Given the description of an element on the screen output the (x, y) to click on. 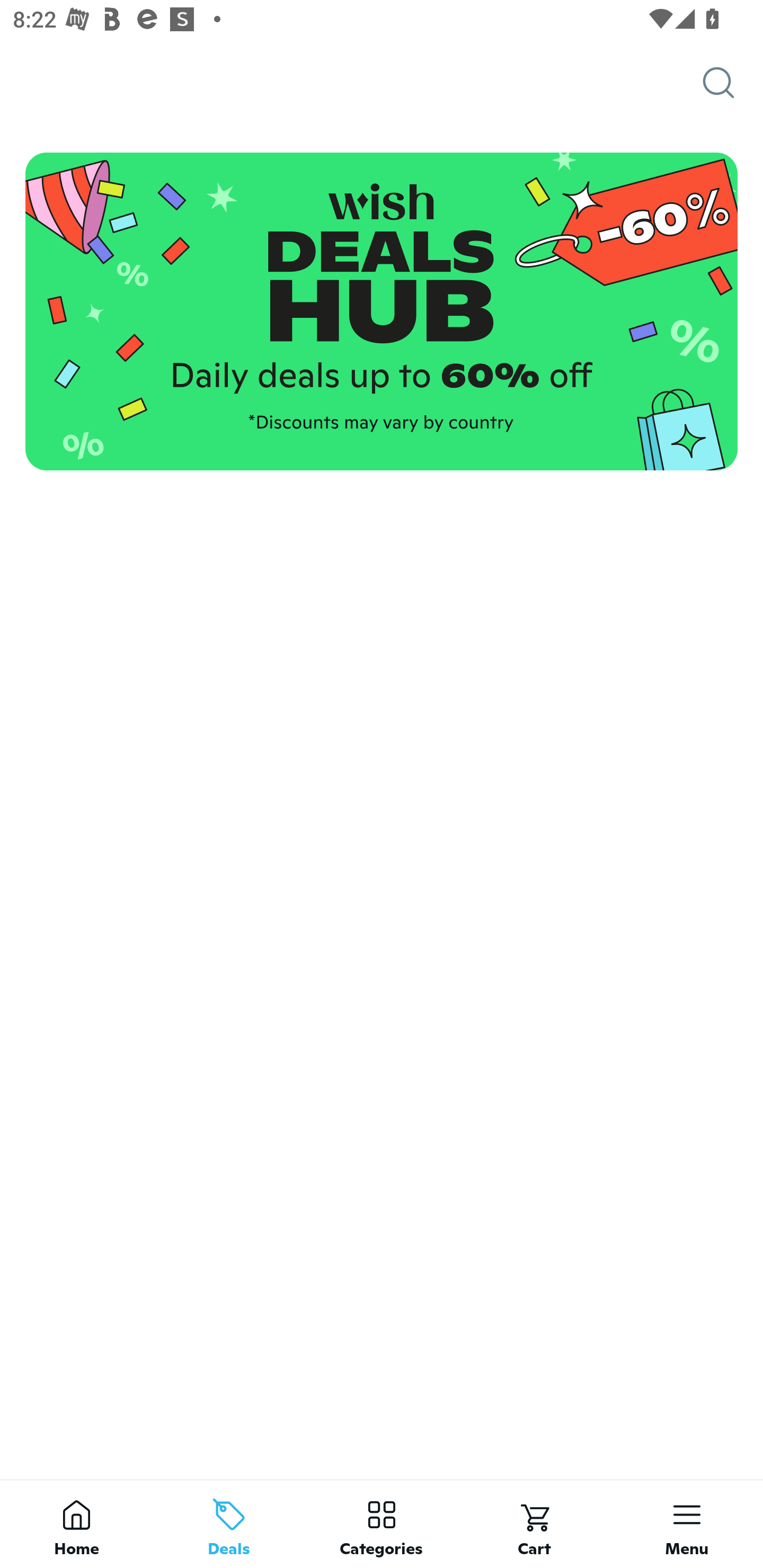
Search (732, 82)
Home (76, 1523)
Deals (228, 1523)
Categories (381, 1523)
Cart (533, 1523)
Menu (686, 1523)
